Given the description of an element on the screen output the (x, y) to click on. 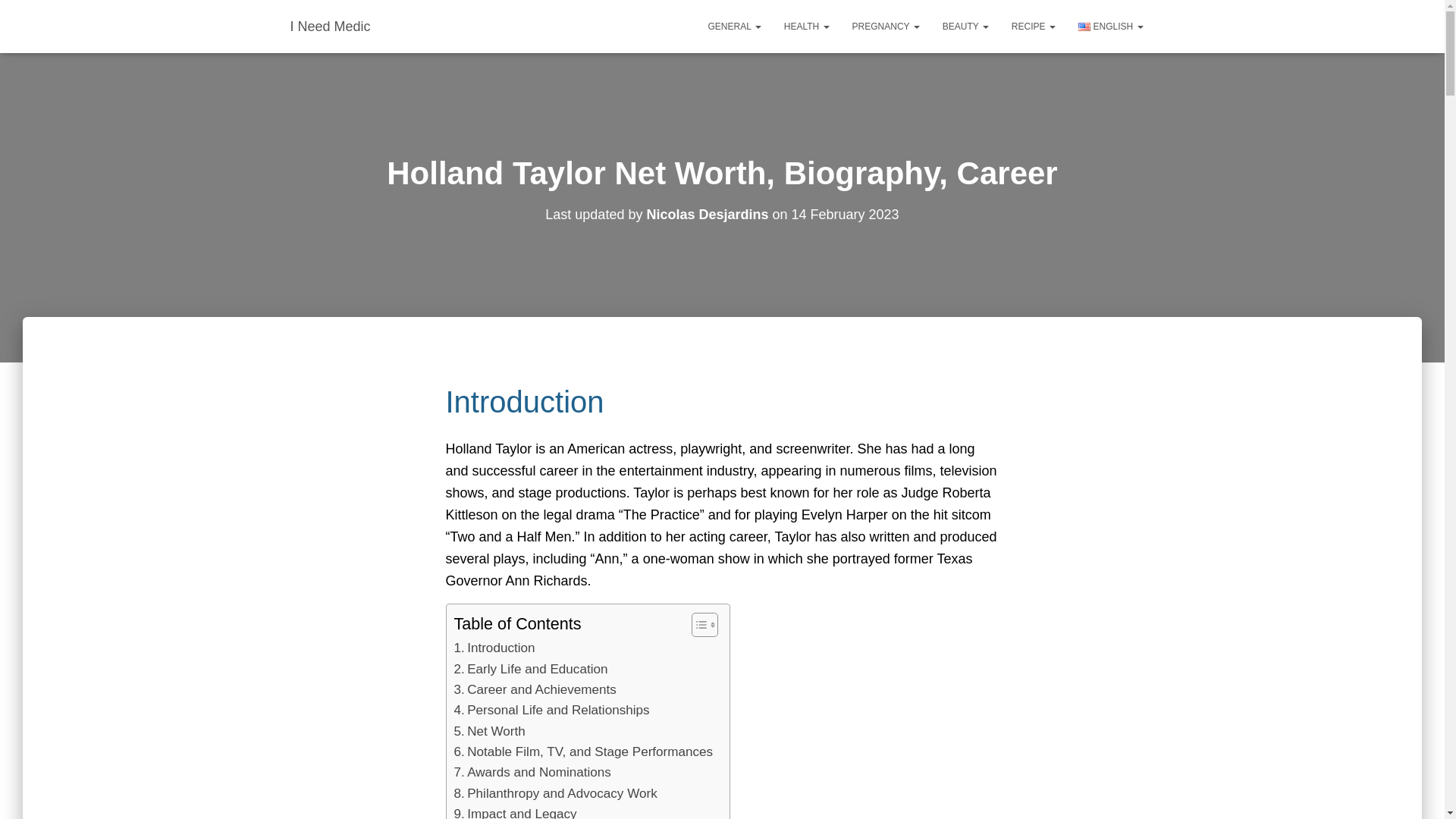
BEAUTY (965, 26)
GENERAL (735, 26)
Awards and Nominations (531, 772)
PREGNANCY (886, 26)
Impact and Legacy (514, 811)
Health (807, 26)
Introduction (493, 648)
Recipe (1033, 26)
General (735, 26)
RECIPE (1033, 26)
Notable Film, TV, and Stage Performances (582, 752)
Career and Achievements (533, 689)
Net Worth (488, 731)
I Need Medic (330, 26)
Beauty (965, 26)
